Given the description of an element on the screen output the (x, y) to click on. 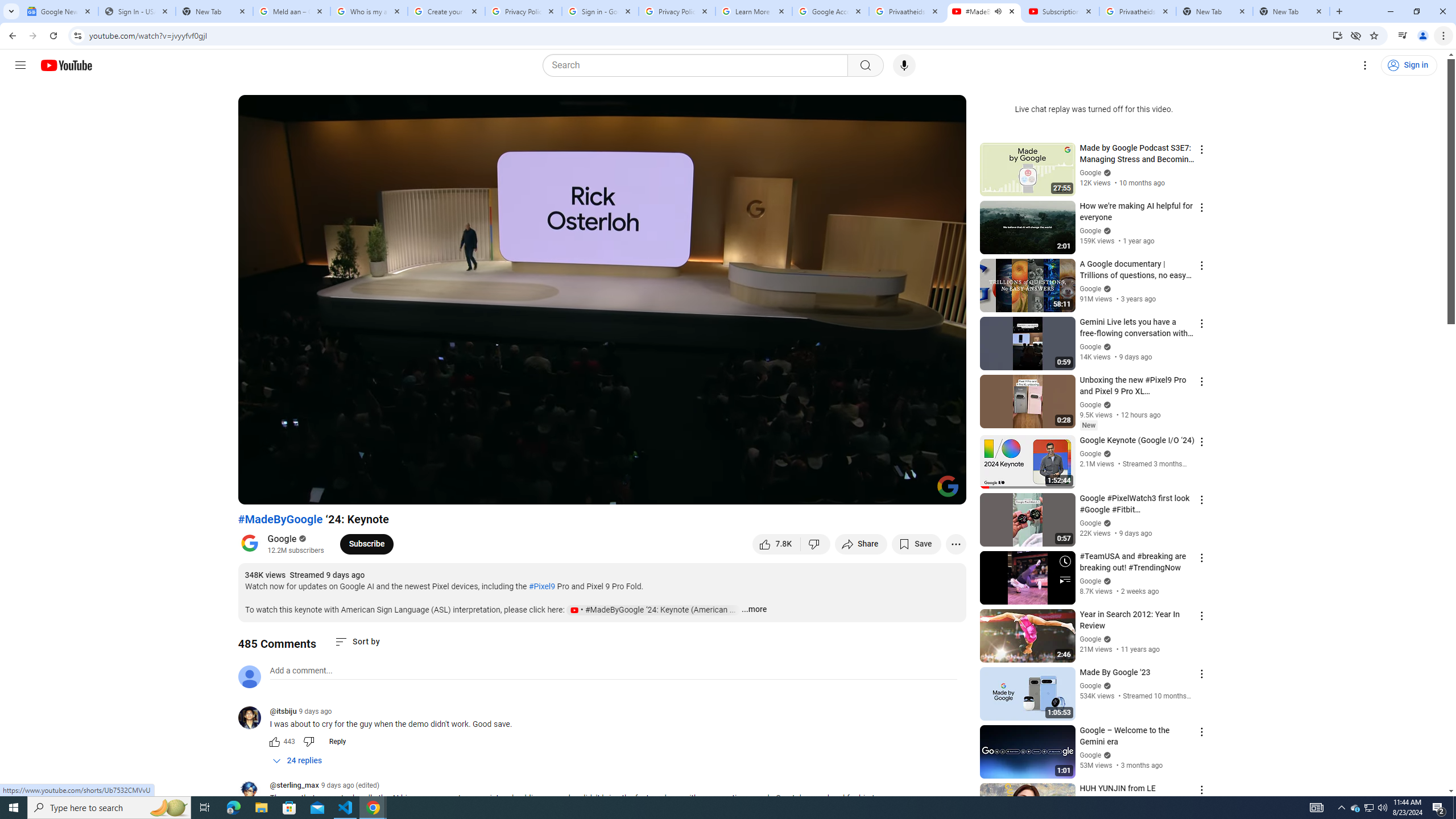
Search (697, 65)
like this video along with 7,829 other people (776, 543)
Create your Google Account (446, 11)
Google (282, 538)
Sign In - USA TODAY (136, 11)
Like this comment along with 443 other people (273, 741)
Settings (863, 490)
Guide (20, 65)
Subscriptions - YouTube (1061, 11)
Settings (1365, 65)
Next (SHIFT+n) (284, 490)
Autoplay is on (808, 490)
Dislike this video (815, 543)
